Given the description of an element on the screen output the (x, y) to click on. 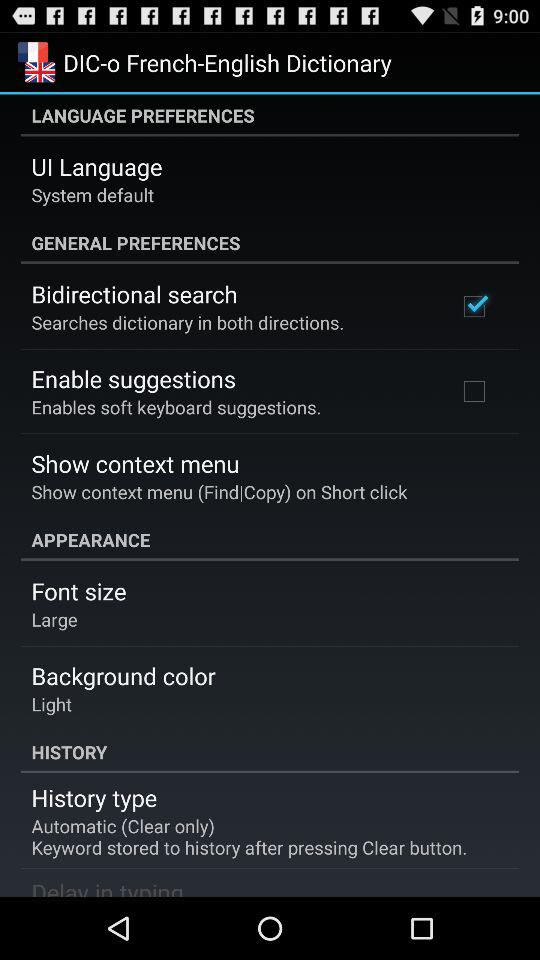
turn on the app below ui language (92, 194)
